Given the description of an element on the screen output the (x, y) to click on. 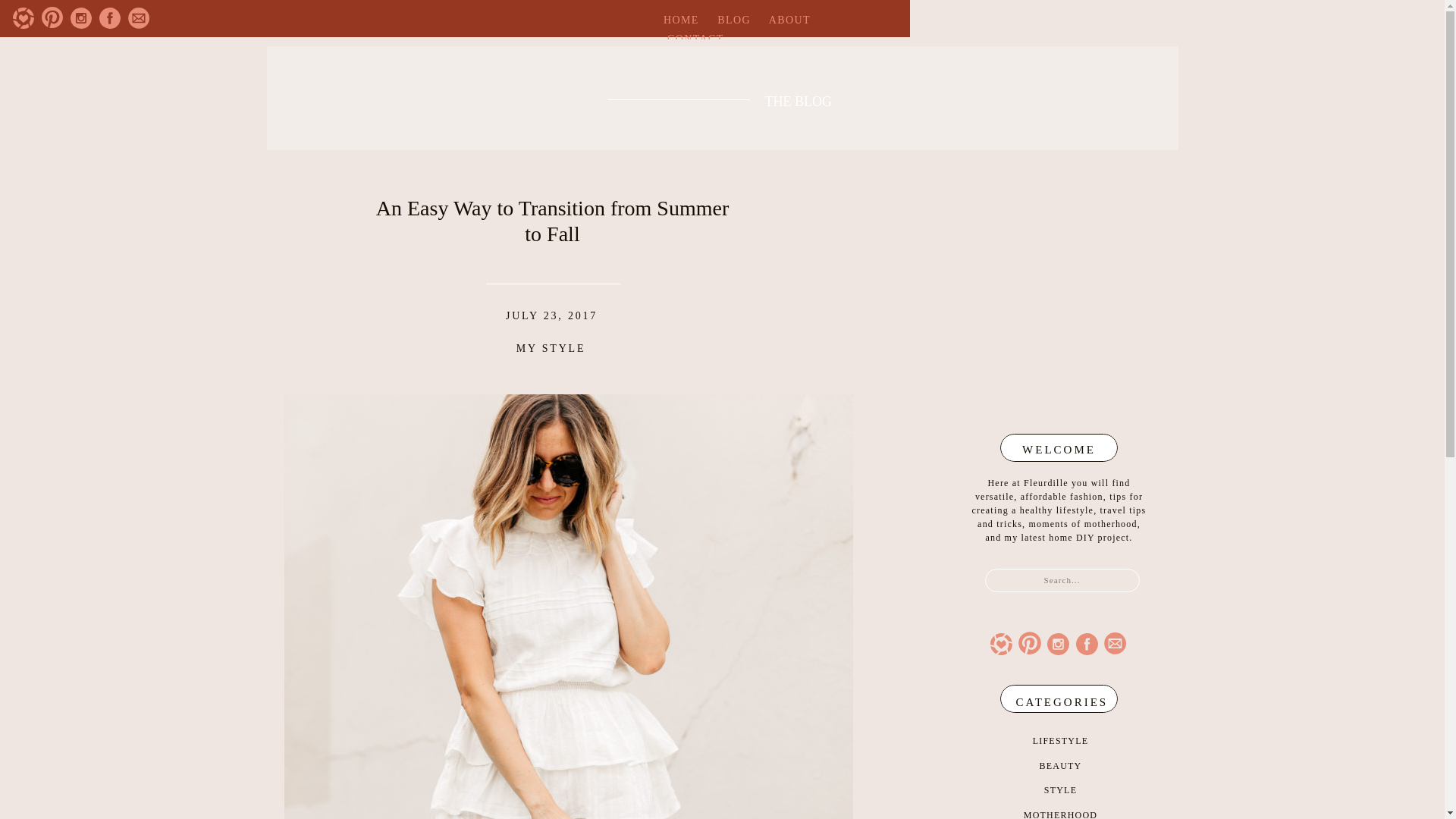
LIFESTYLE (1059, 740)
THE BLOG (803, 98)
ABOUT (789, 19)
BLOG (734, 19)
HOME (680, 19)
CONTACT (694, 39)
MY STYLE (551, 348)
